Given the description of an element on the screen output the (x, y) to click on. 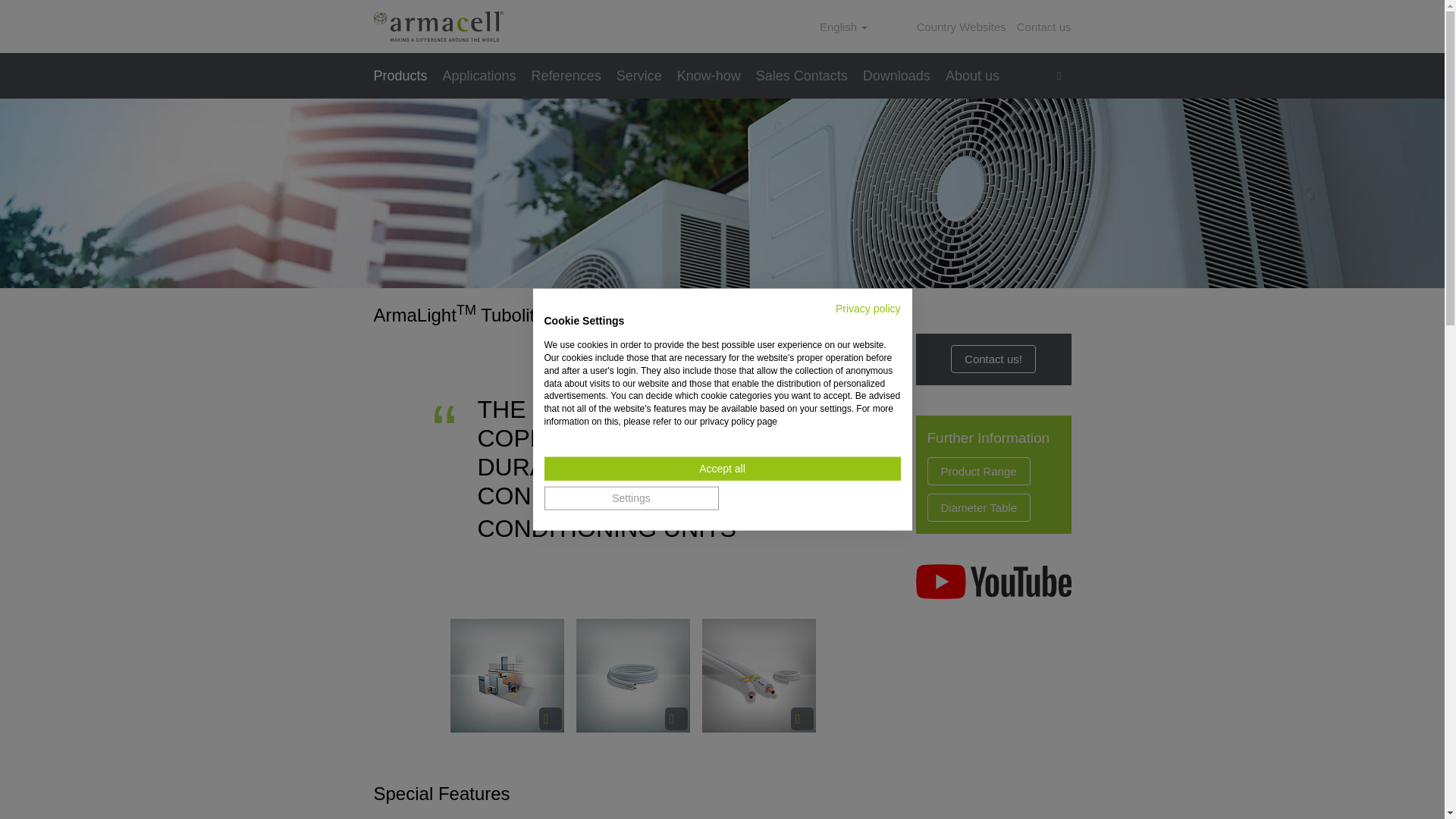
Products (402, 75)
English (843, 26)
Armacell Home (437, 26)
Contact us (1043, 26)
Country Websites (960, 26)
